Given the description of an element on the screen output the (x, y) to click on. 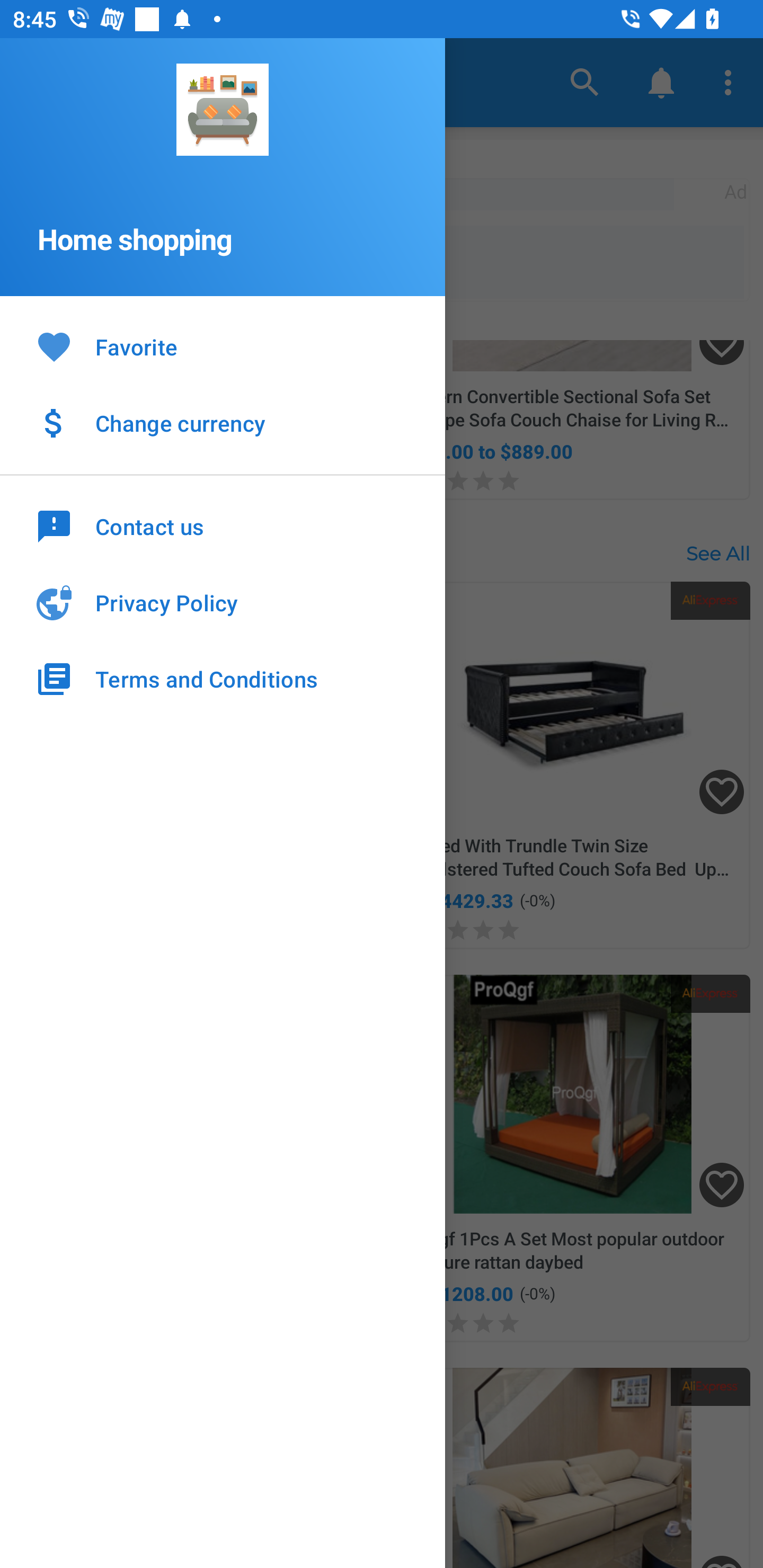
Favorite (222, 346)
Change currency (222, 422)
Contact us (222, 525)
Privacy Policy (222, 602)
Terms and Conditions (222, 678)
